Given the description of an element on the screen output the (x, y) to click on. 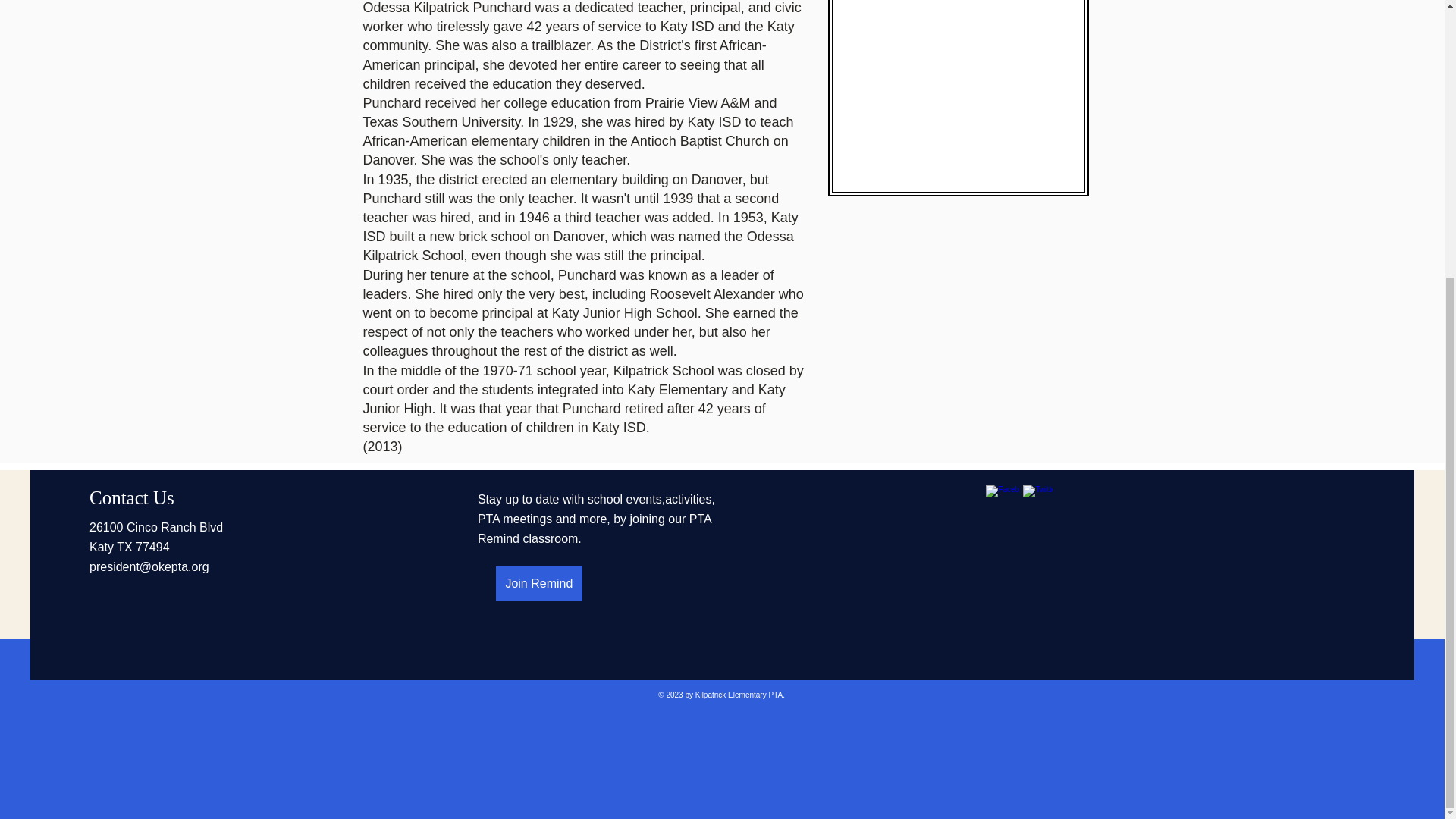
Join Remind (539, 583)
